Given the description of an element on the screen output the (x, y) to click on. 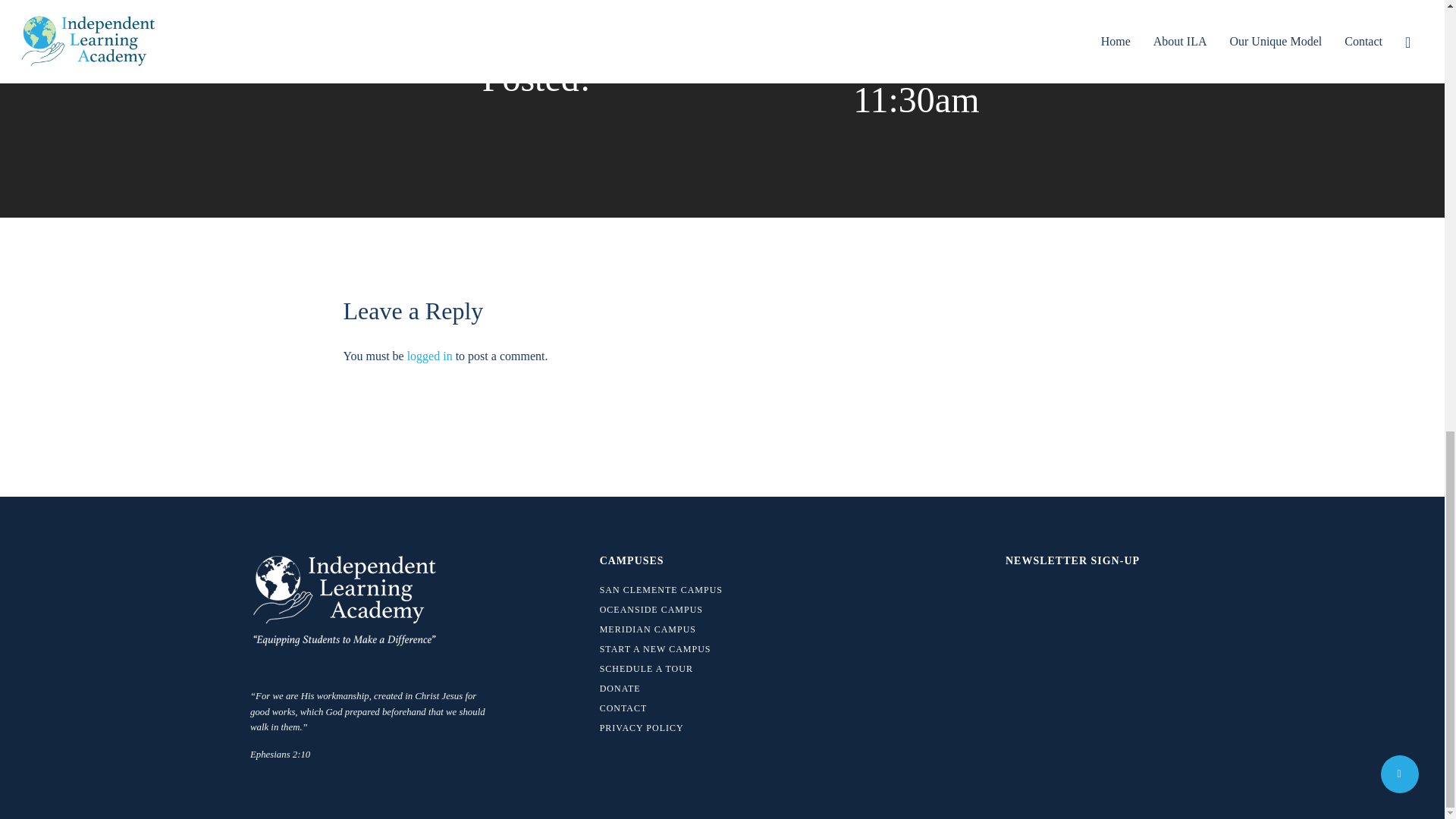
OCEANSIDE CAMPUS (691, 609)
SAN CLEMENTE CAMPUS (691, 590)
CONTACT (691, 707)
PRIVACY POLICY (691, 727)
DONATE (691, 688)
SCHEDULE A TOUR (691, 668)
MERIDIAN CAMPUS (691, 629)
logged in (429, 355)
START A NEW CAMPUS (691, 649)
